Given the description of an element on the screen output the (x, y) to click on. 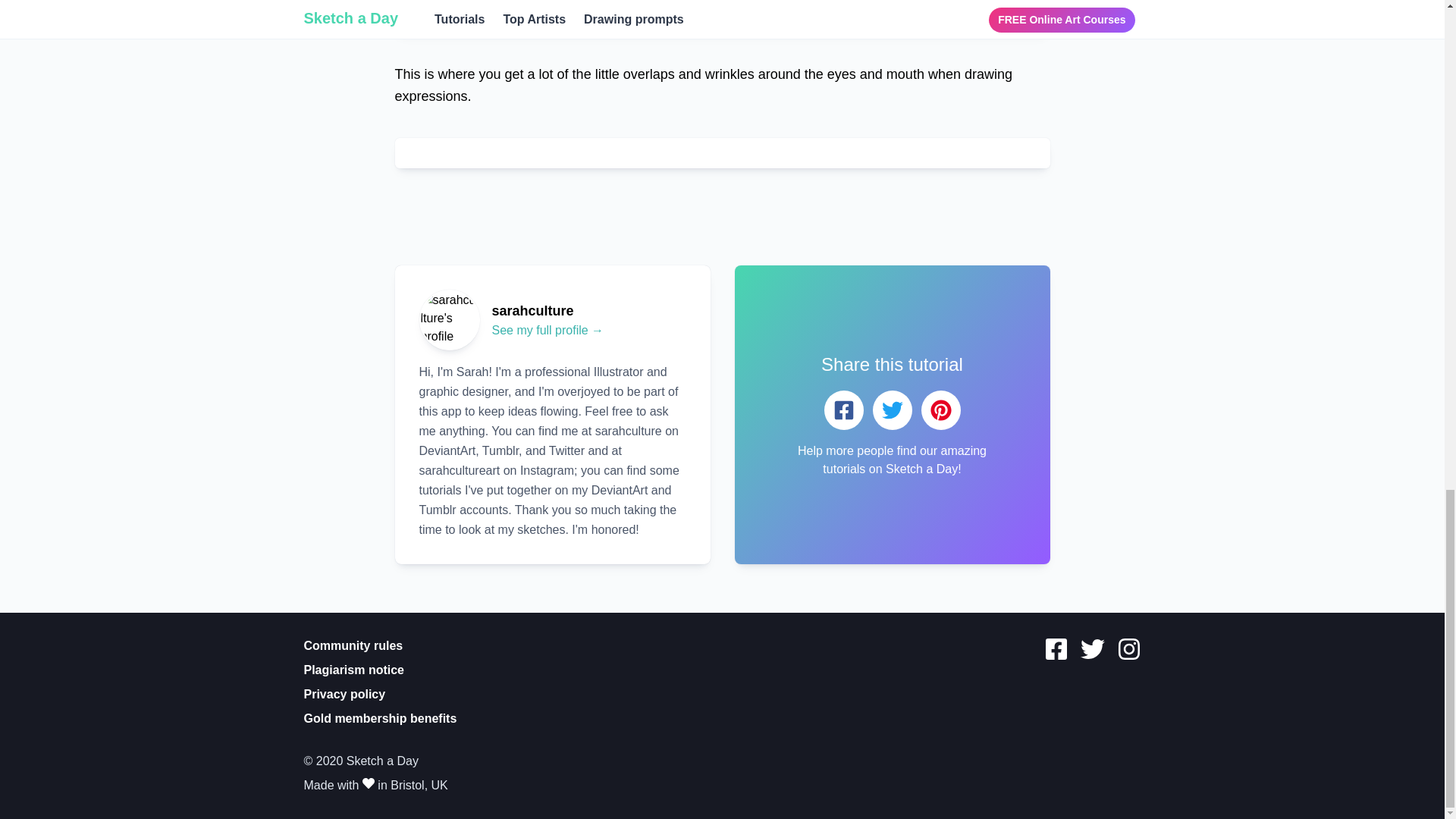
Gold membership benefits (379, 717)
Community rules (352, 645)
Privacy policy (343, 694)
Plagiarism notice (353, 669)
